Given the description of an element on the screen output the (x, y) to click on. 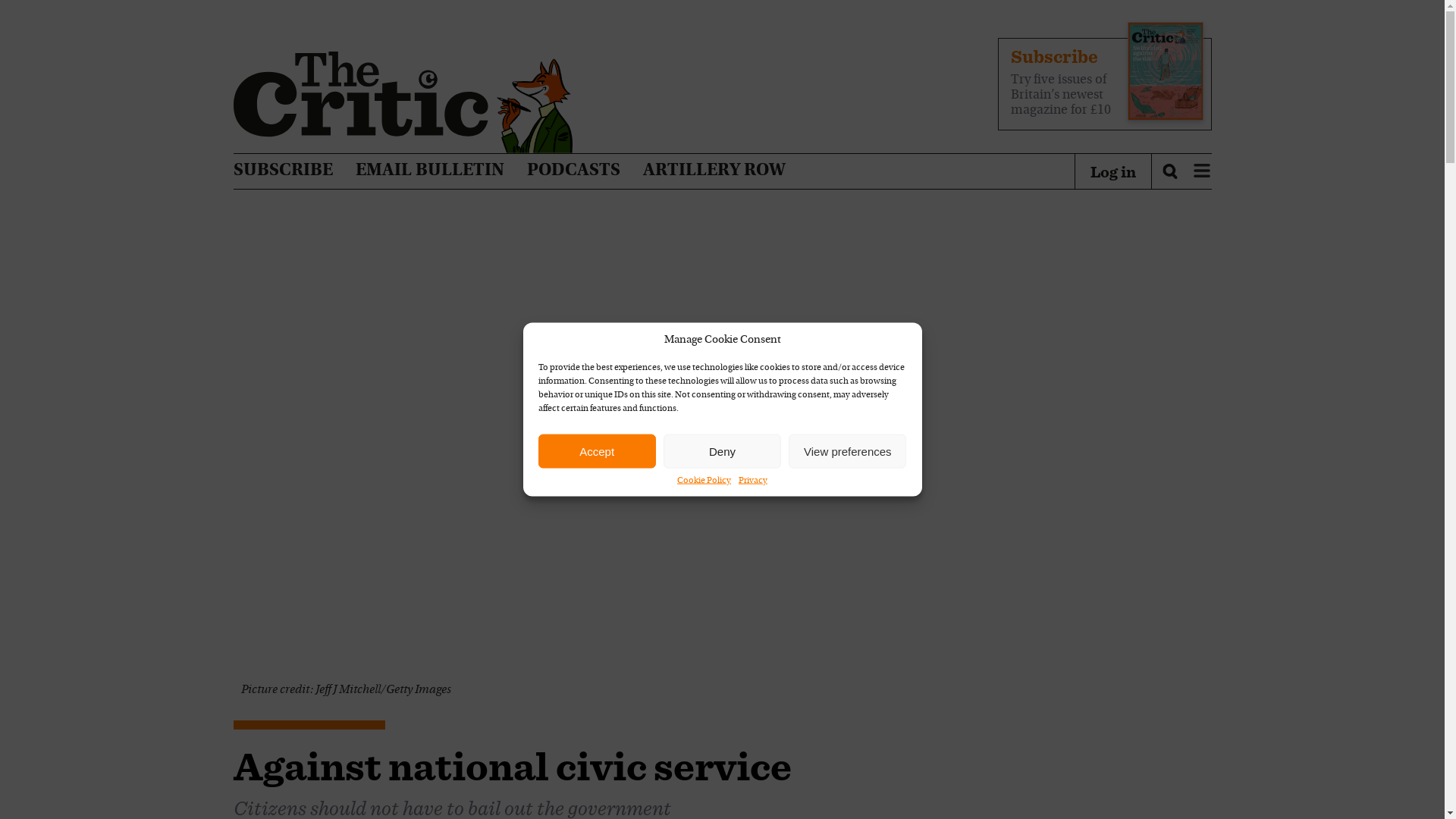
Log in (1112, 171)
Deny (721, 450)
PODCASTS (572, 171)
Privacy (752, 480)
Cookie Policy (703, 480)
View preferences (847, 450)
SUBSCRIBE (282, 171)
ARTILLERY ROW (714, 171)
EMAIL BULLETIN (429, 171)
Accept (597, 450)
